Given the description of an element on the screen output the (x, y) to click on. 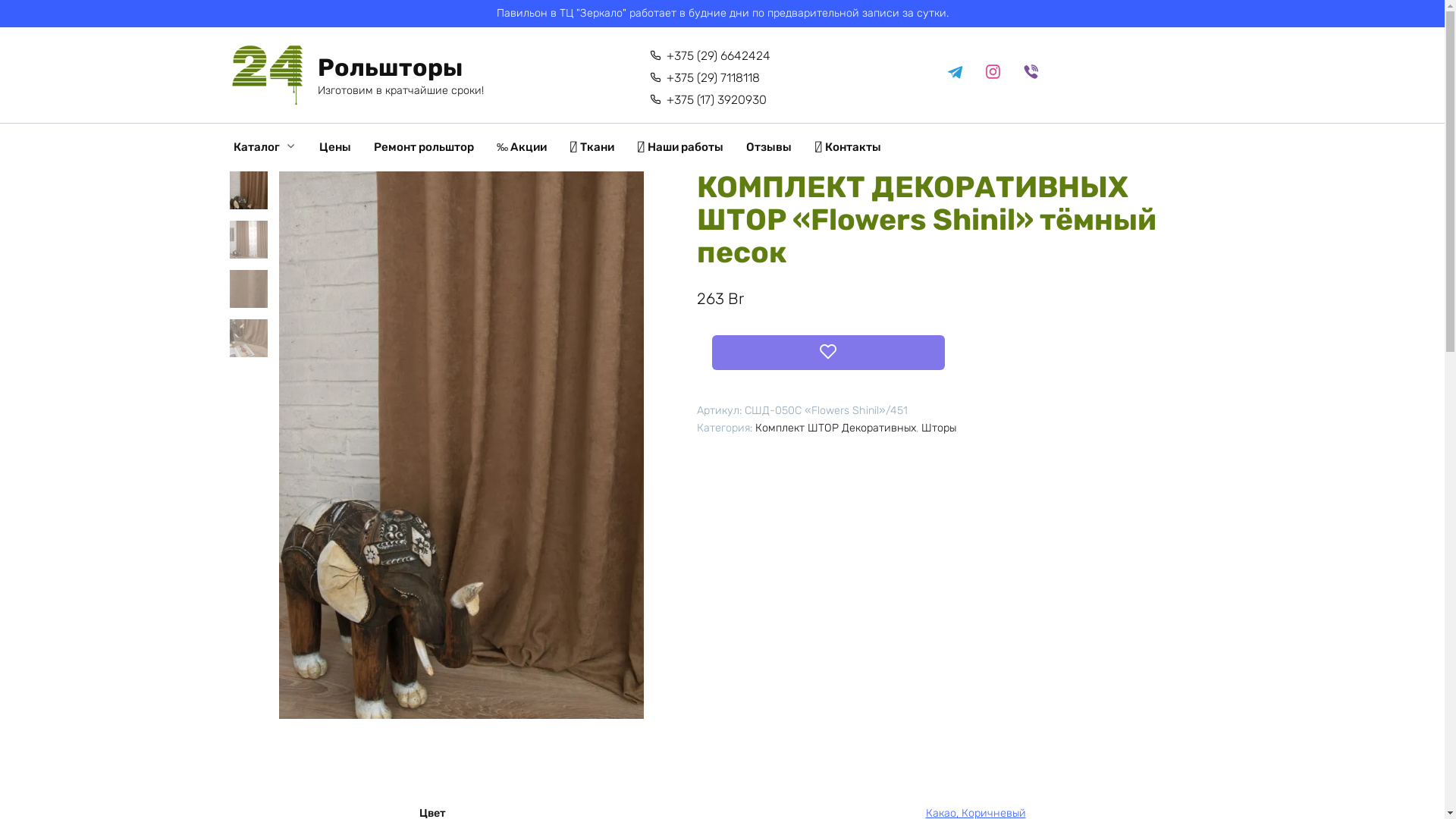
+375 (29) 7118118 Element type: text (704, 78)
www_delfa_flower_shinil_451_t_pesok_tkan5 Element type: hover (461, 444)
14887 Element type: text (116, 18)
+375 (17) 3920930 Element type: text (707, 100)
+375 (29) 6642424 Element type: text (709, 56)
